Given the description of an element on the screen output the (x, y) to click on. 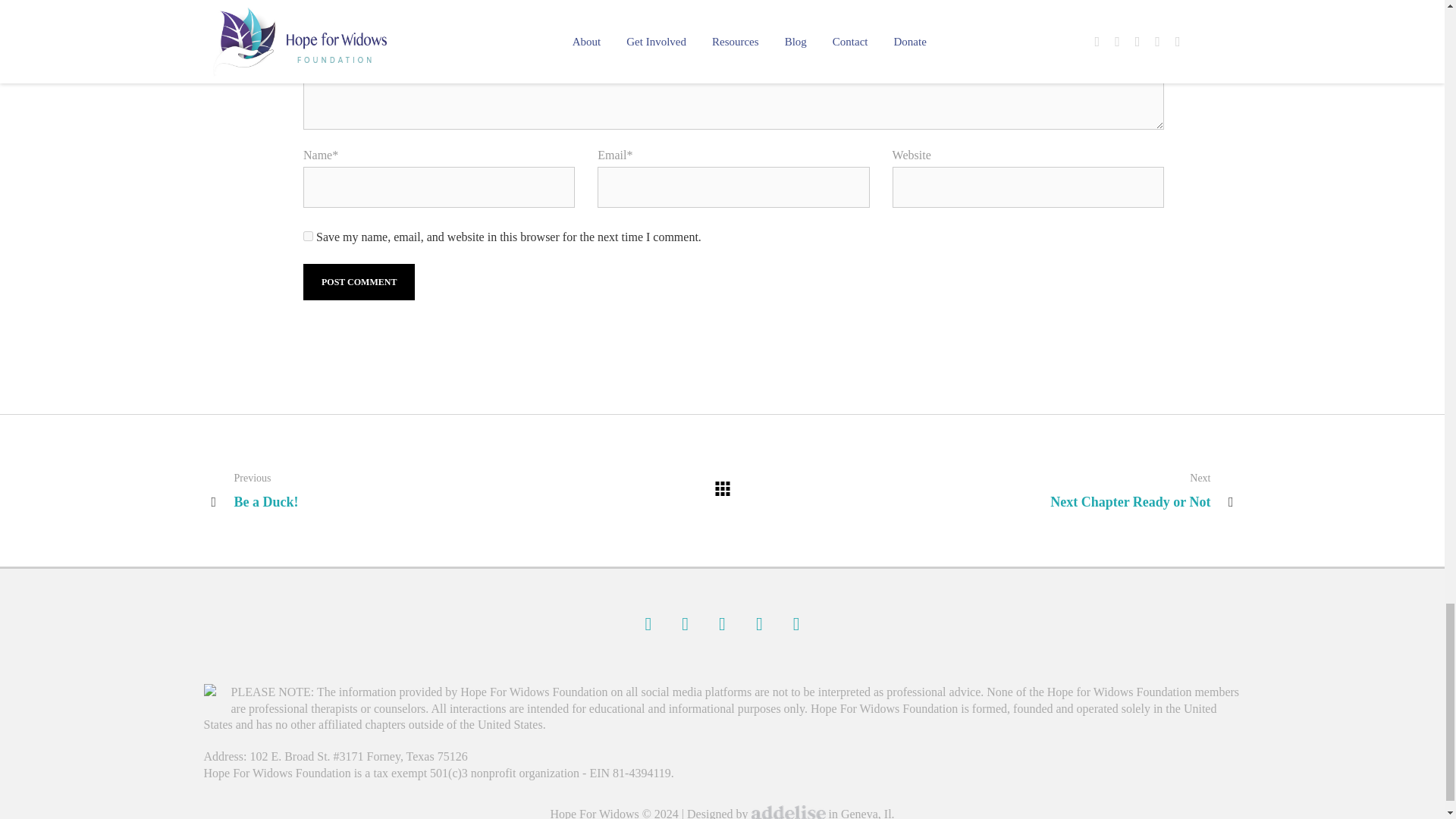
Post Comment (358, 281)
yes (307, 235)
